Given the description of an element on the screen output the (x, y) to click on. 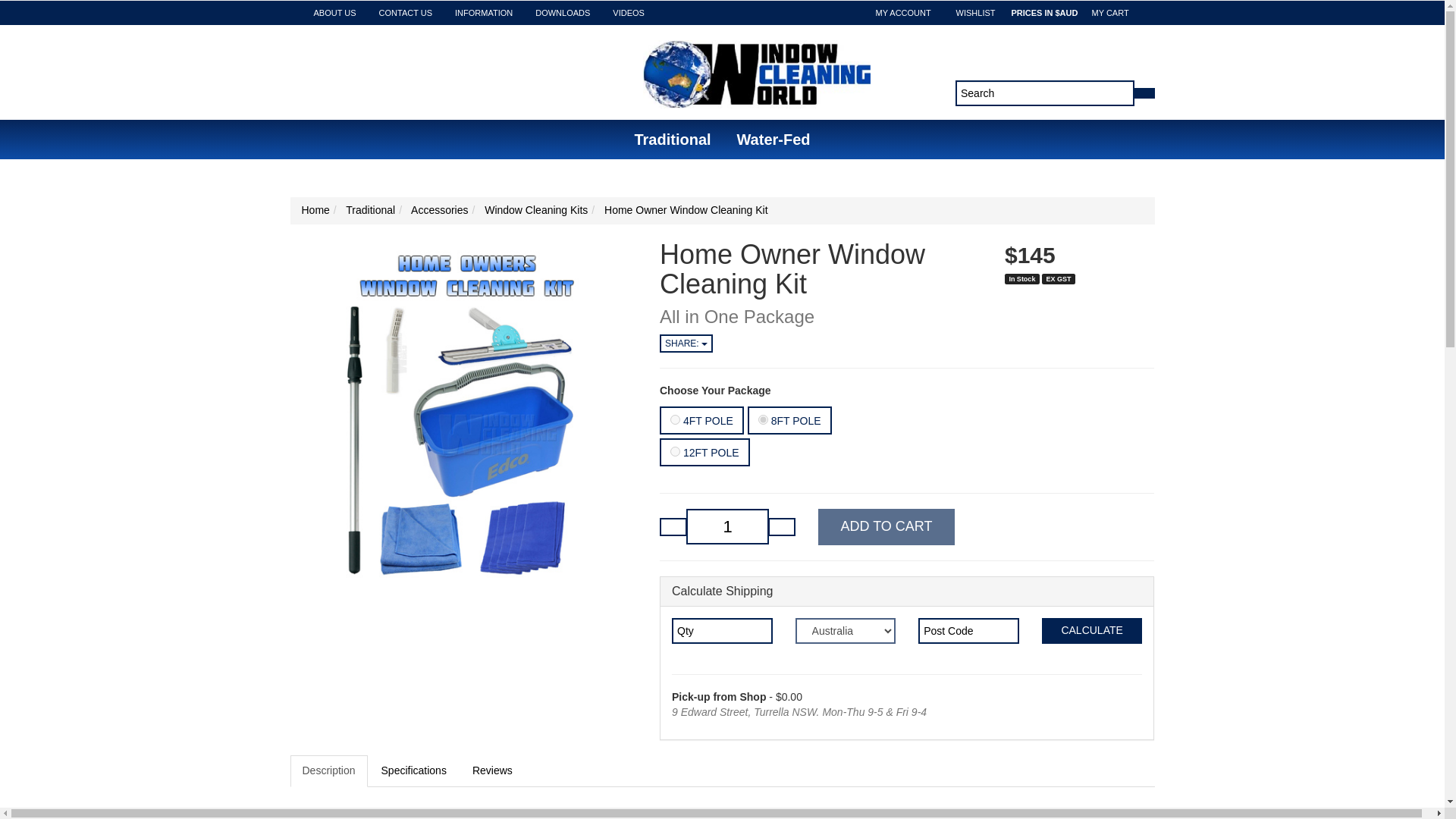
WISHLIST  (976, 12)
MY ACCOUNT  (904, 12)
DOWNLOADS (562, 12)
495 (674, 419)
496 (763, 419)
Add to Cart (885, 526)
Calculate (1092, 630)
1 (726, 526)
VIDEOS (628, 12)
CONTACT US (406, 12)
INFORMATION (484, 12)
557 (674, 451)
MY CART  (1111, 12)
ABOUT US (333, 12)
Window Cleaning World (756, 69)
